Given the description of an element on the screen output the (x, y) to click on. 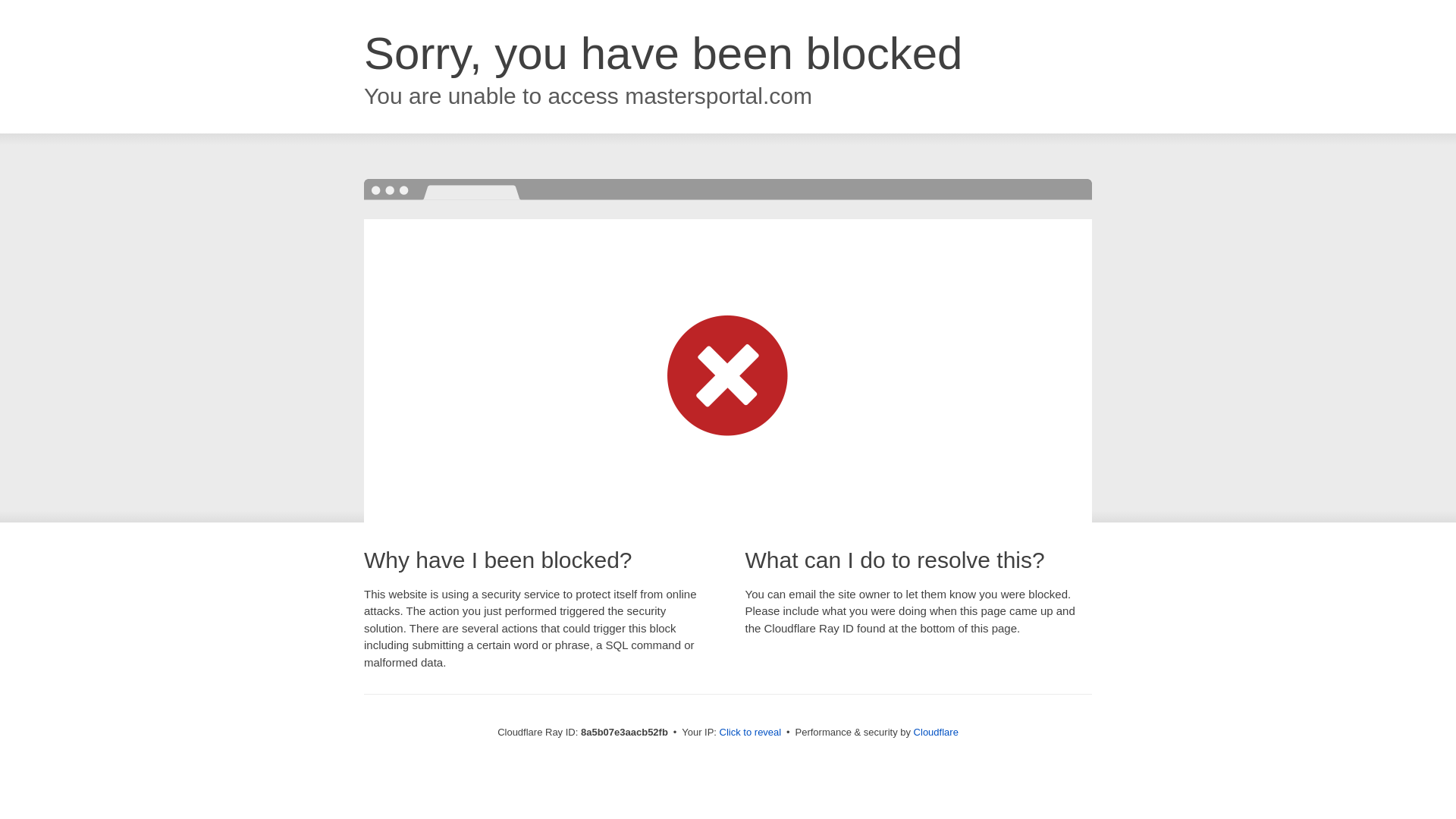
Cloudflare (936, 731)
Click to reveal (750, 732)
